Given the description of an element on the screen output the (x, y) to click on. 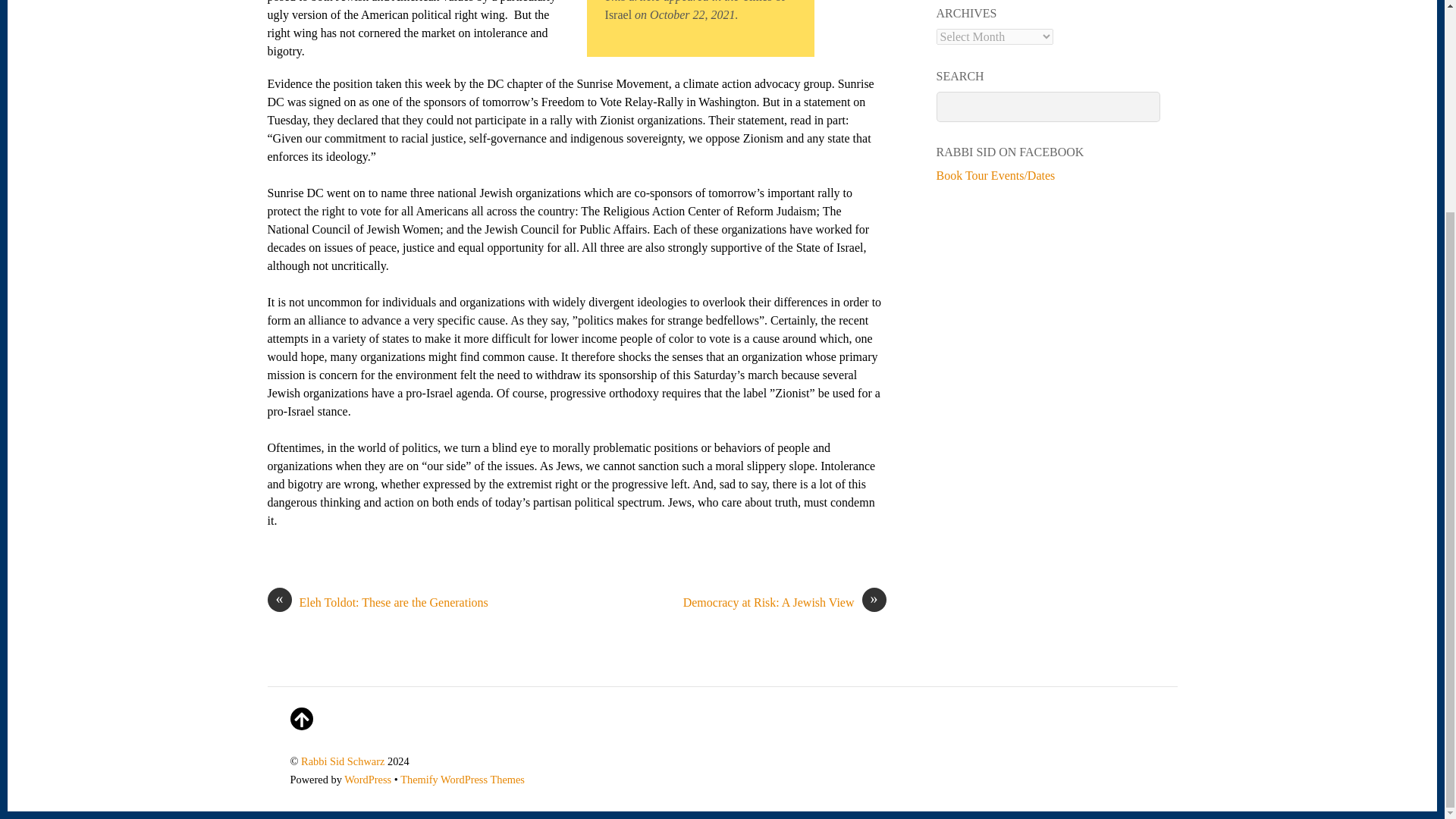
Search (1048, 106)
Rabbi Sid Schwarz (342, 761)
